Given the description of an element on the screen output the (x, y) to click on. 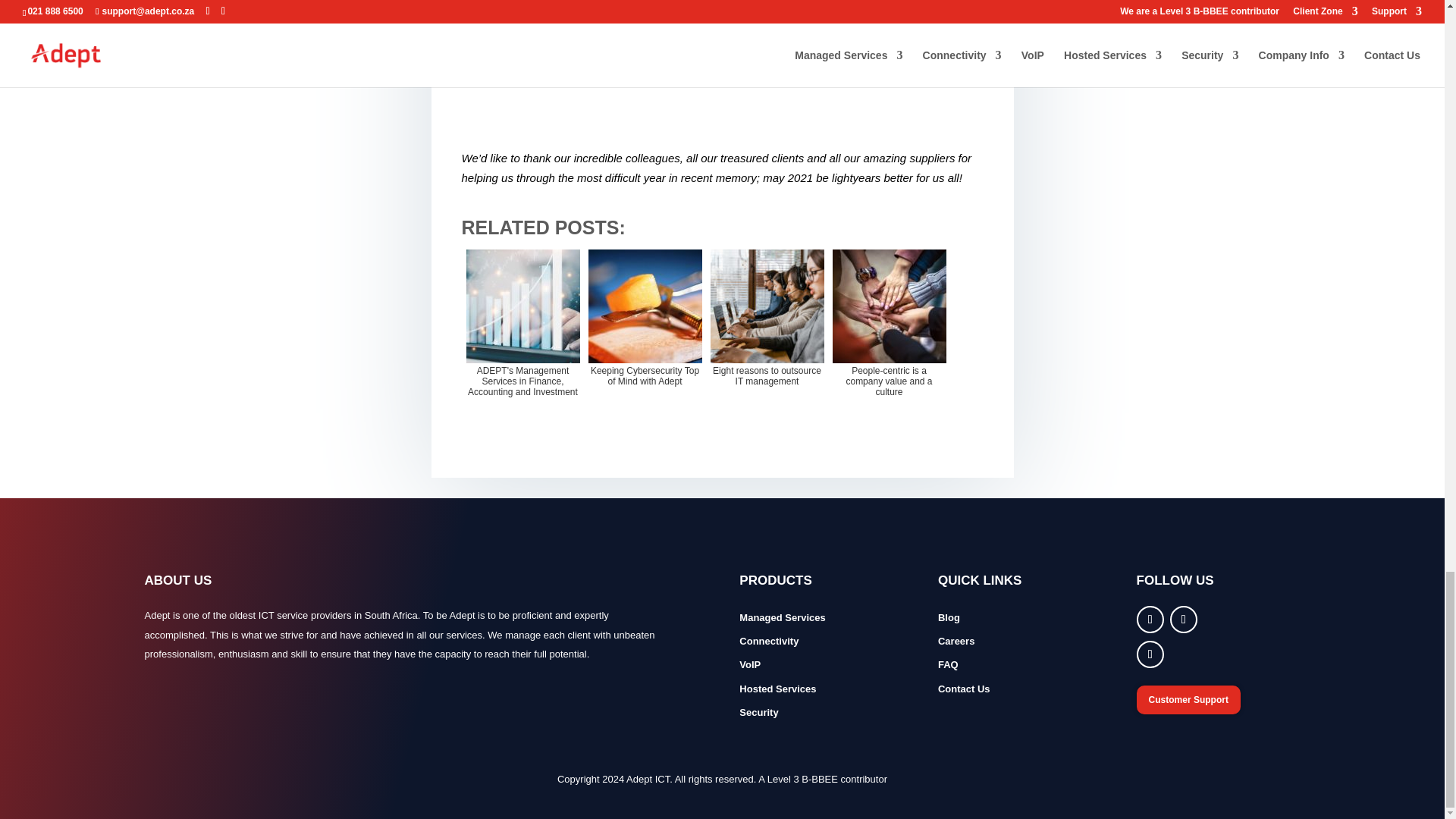
Hosted Services (777, 688)
VoIP (749, 664)
Managed Services (782, 617)
Follow on LinkedIn (1150, 654)
Follow on X (1183, 619)
Contact Us (963, 688)
Connectivity (768, 641)
FAQ (947, 664)
Blog (948, 617)
careers (955, 641)
Security (758, 712)
Follow on Facebook (1150, 619)
